Given the description of an element on the screen output the (x, y) to click on. 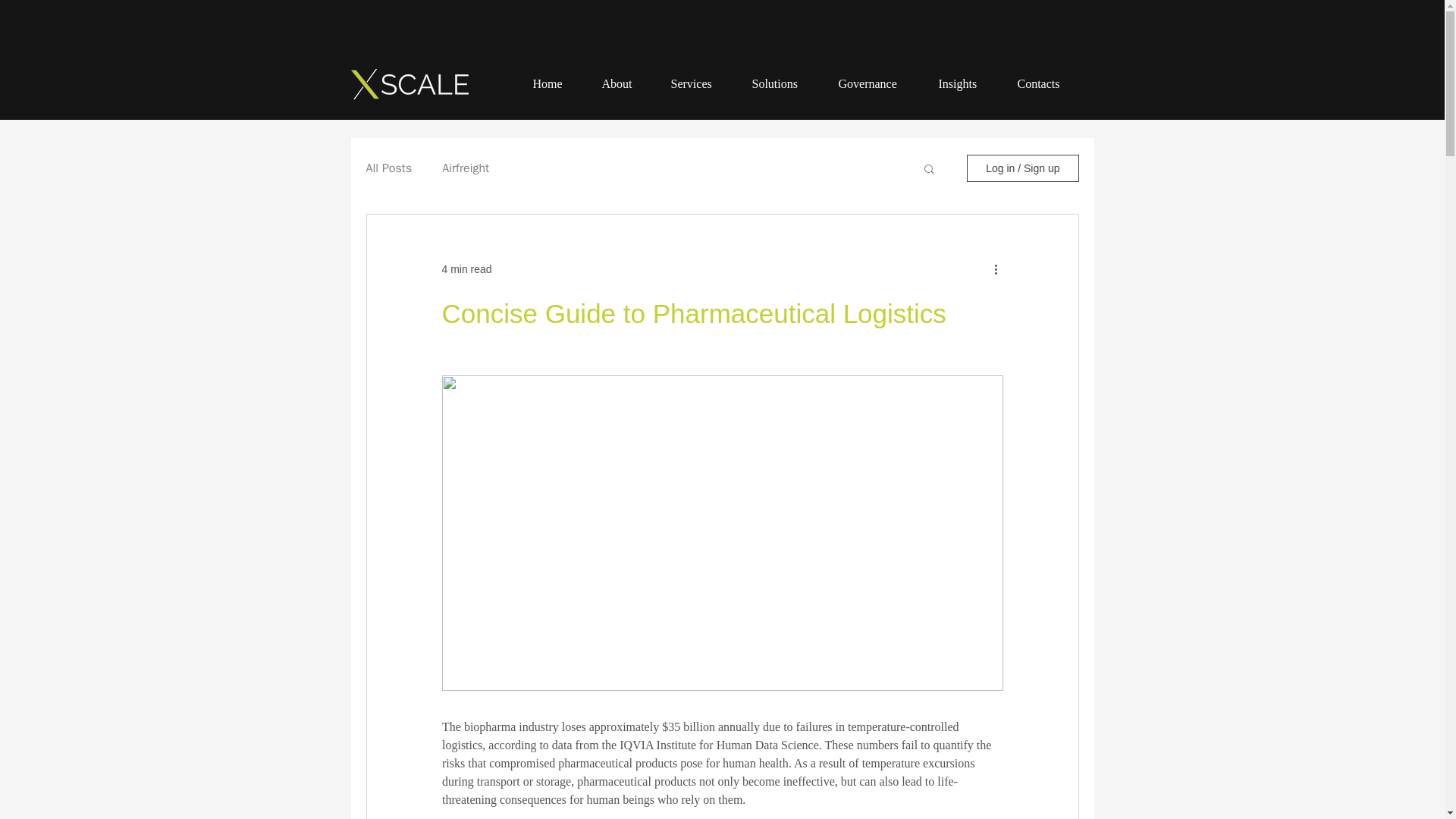
About (628, 84)
4 min read (466, 268)
Solutions (787, 84)
Home (559, 84)
Insights (970, 84)
Airfreight (465, 168)
Governance (881, 84)
All Posts (388, 168)
Services (703, 84)
Contacts (1052, 84)
